Given the description of an element on the screen output the (x, y) to click on. 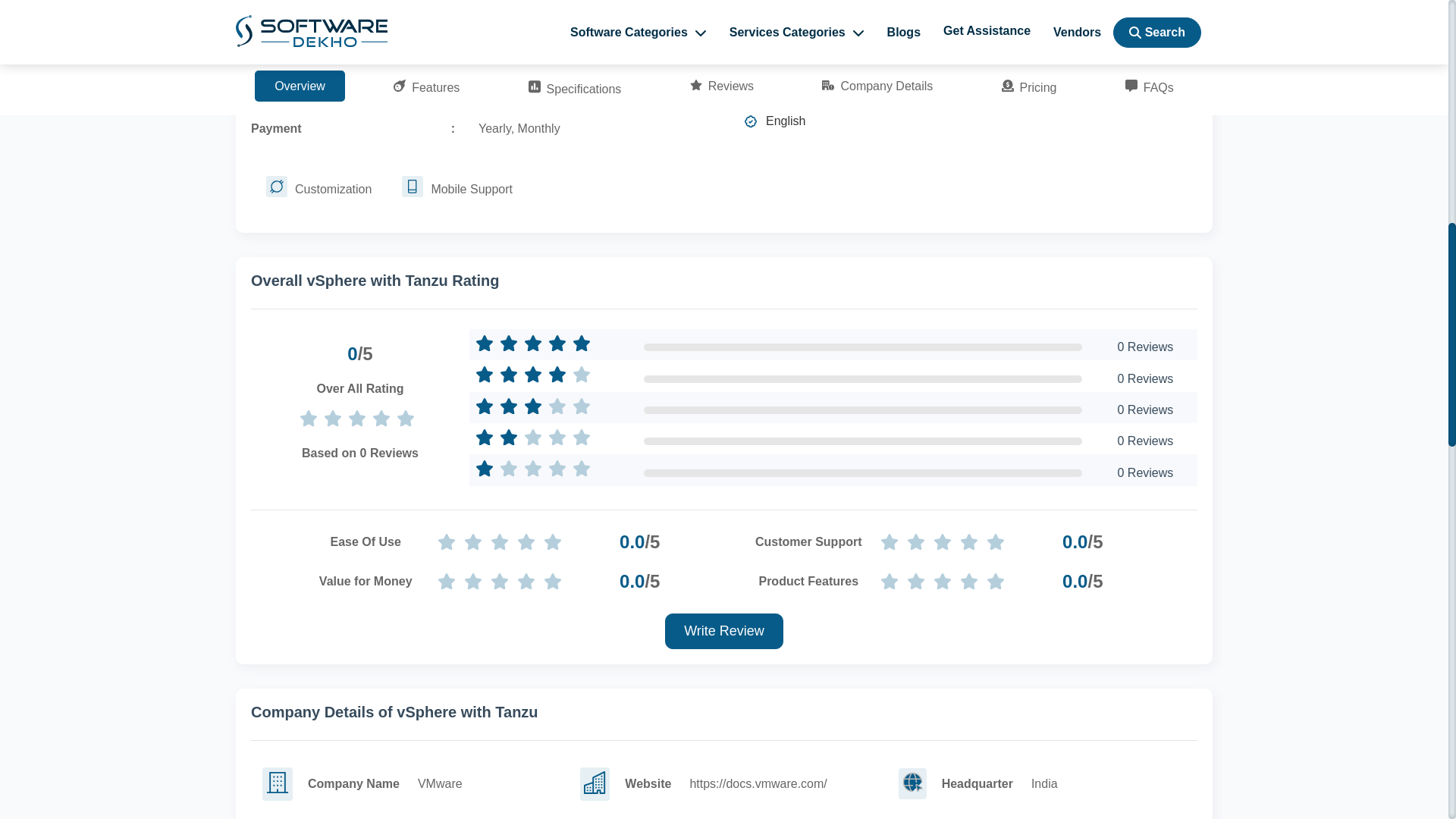
Write Review (724, 631)
